Given the description of an element on the screen output the (x, y) to click on. 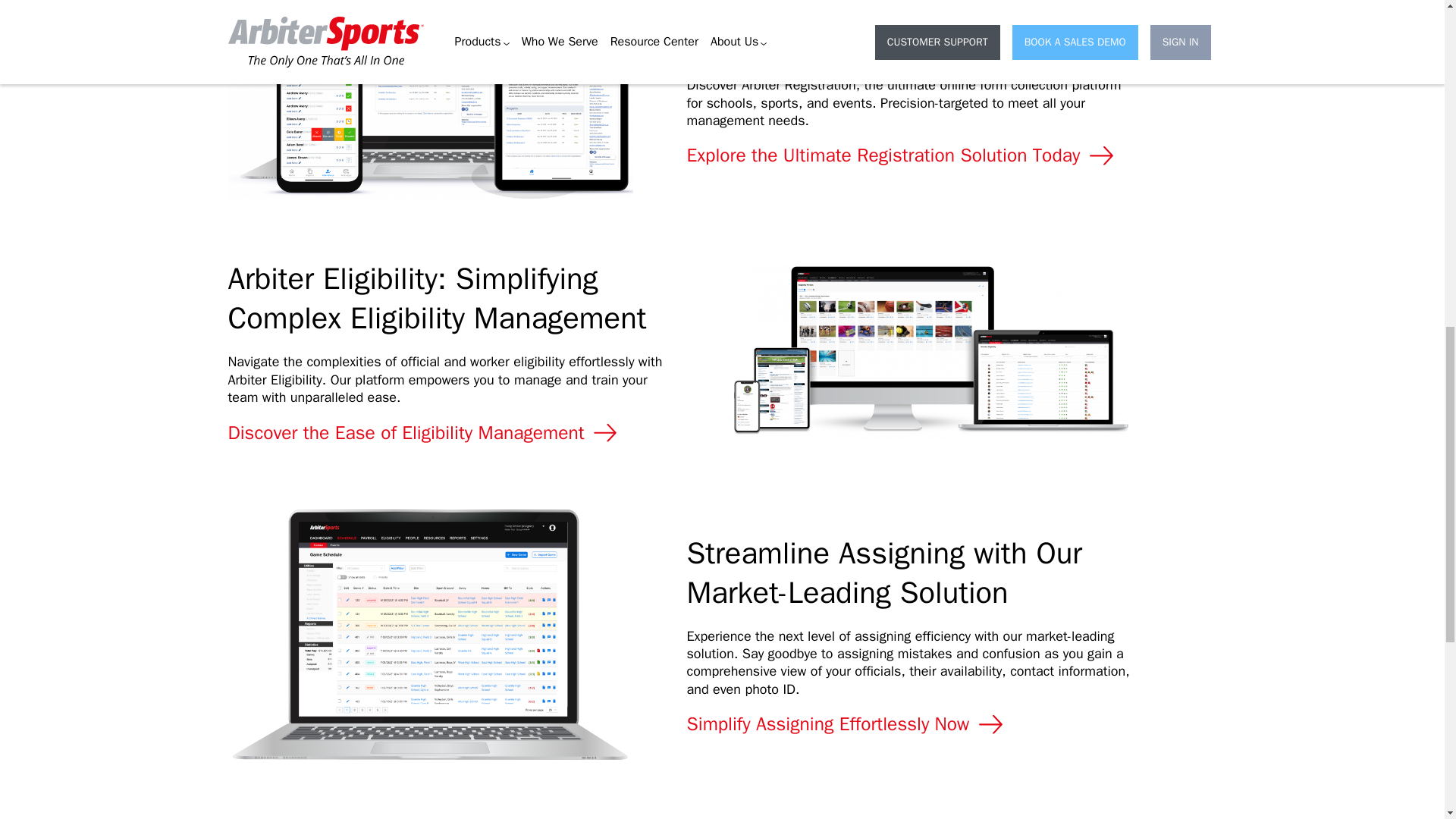
Explore the Ultimate Registration Solution Today (902, 155)
Arbiter Sports (263, 816)
Discover the Ease of Eligibility Management (424, 432)
Simplify Assigning Effortlessly Now (847, 723)
